Given the description of an element on the screen output the (x, y) to click on. 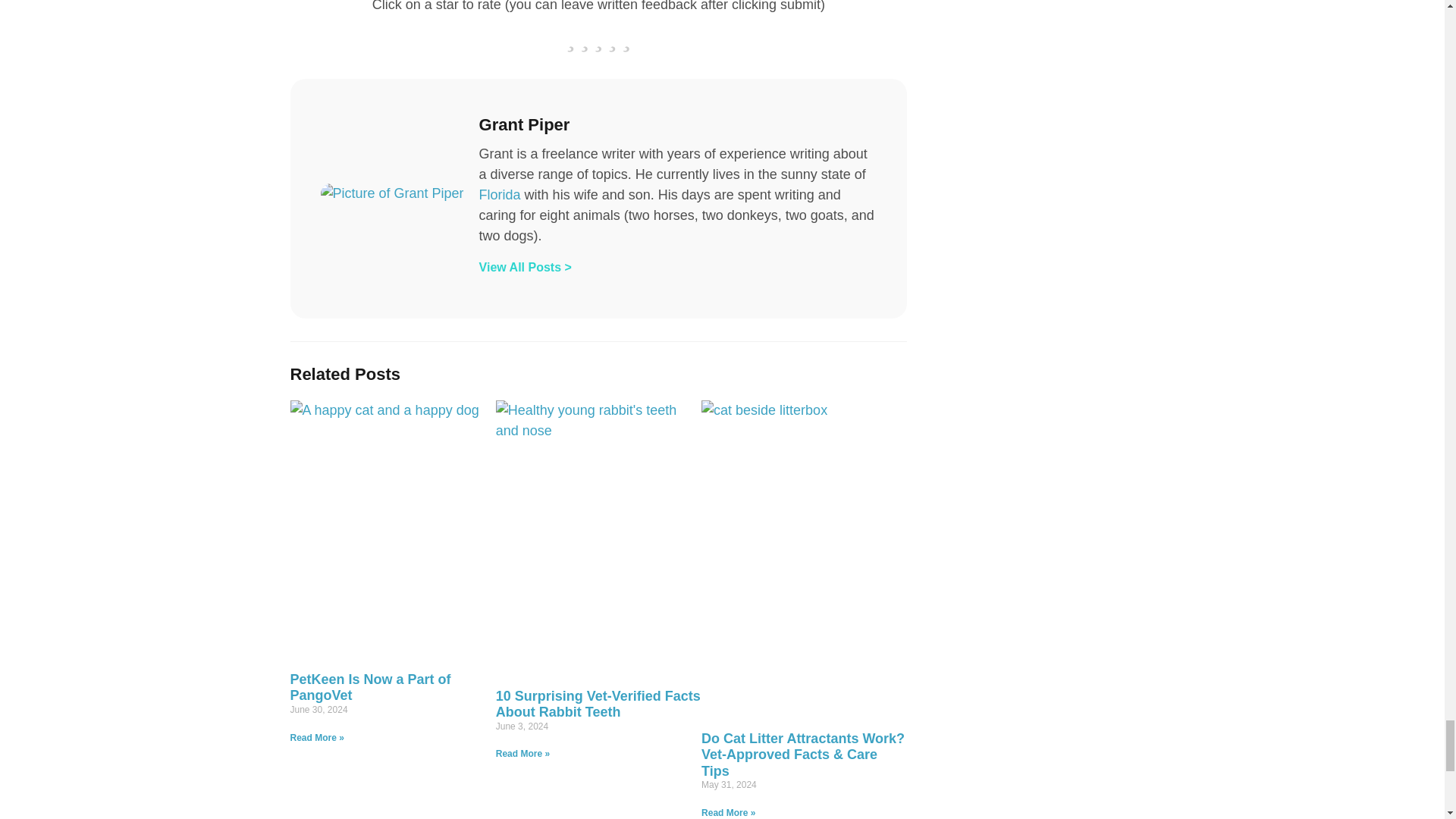
10 Surprising Vet-Verified Facts About Rabbit Teeth (598, 704)
Florida (501, 194)
Grant Piper (678, 125)
PetKeen Is Now a Part of PangoVet (369, 687)
